Given the description of an element on the screen output the (x, y) to click on. 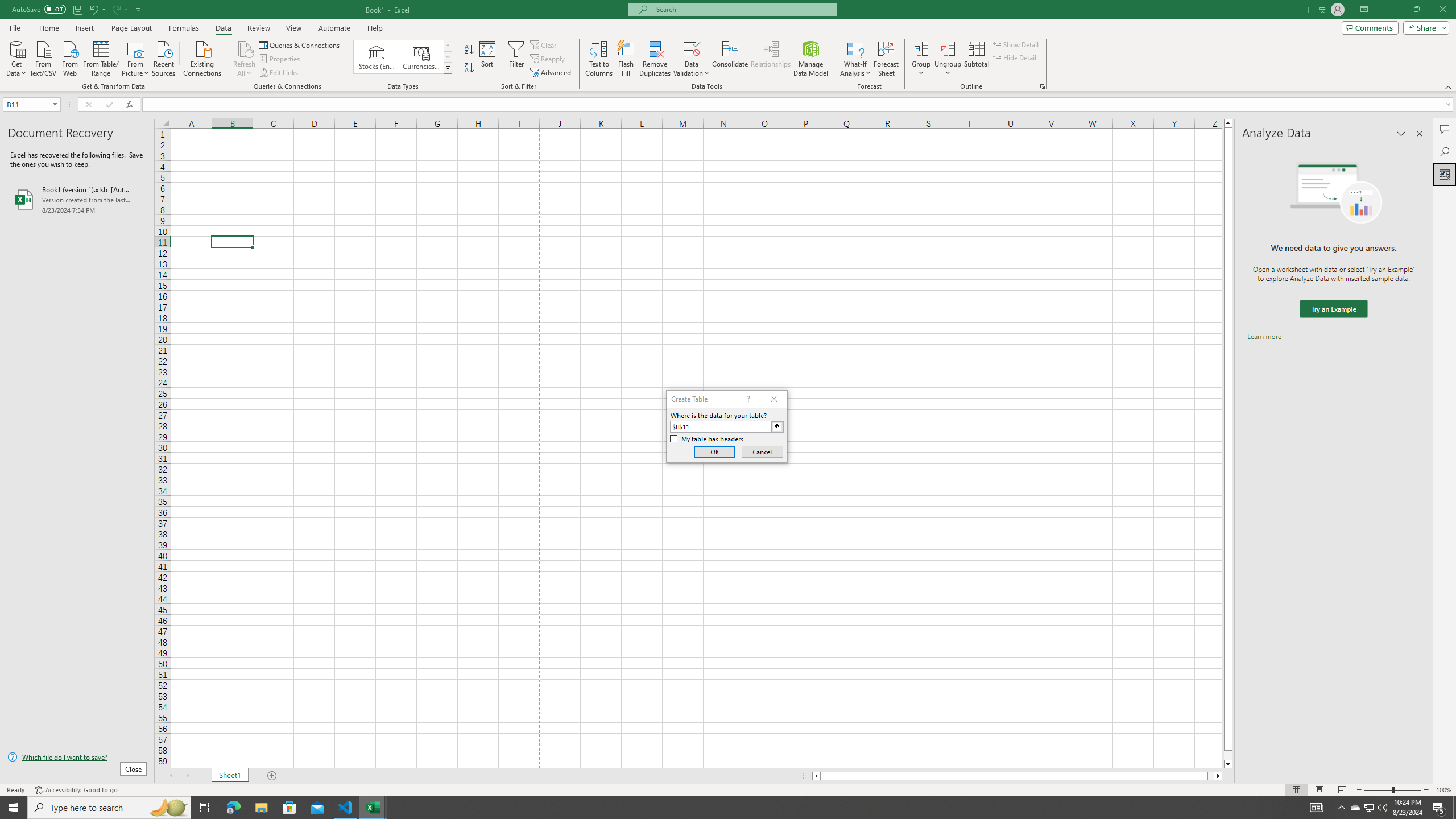
Name Box (27, 104)
Page down (1228, 755)
From Table/Range (100, 57)
Recent Sources (163, 57)
Accessibility Checker Accessibility: Good to go (76, 790)
Page Break Preview (1342, 790)
Zoom (1392, 790)
Open (54, 104)
Quick Access Toolbar (77, 9)
Page Layout (131, 28)
Stocks (English) (375, 56)
Add Sheet (272, 775)
More Options (947, 68)
Undo (92, 9)
